Given the description of an element on the screen output the (x, y) to click on. 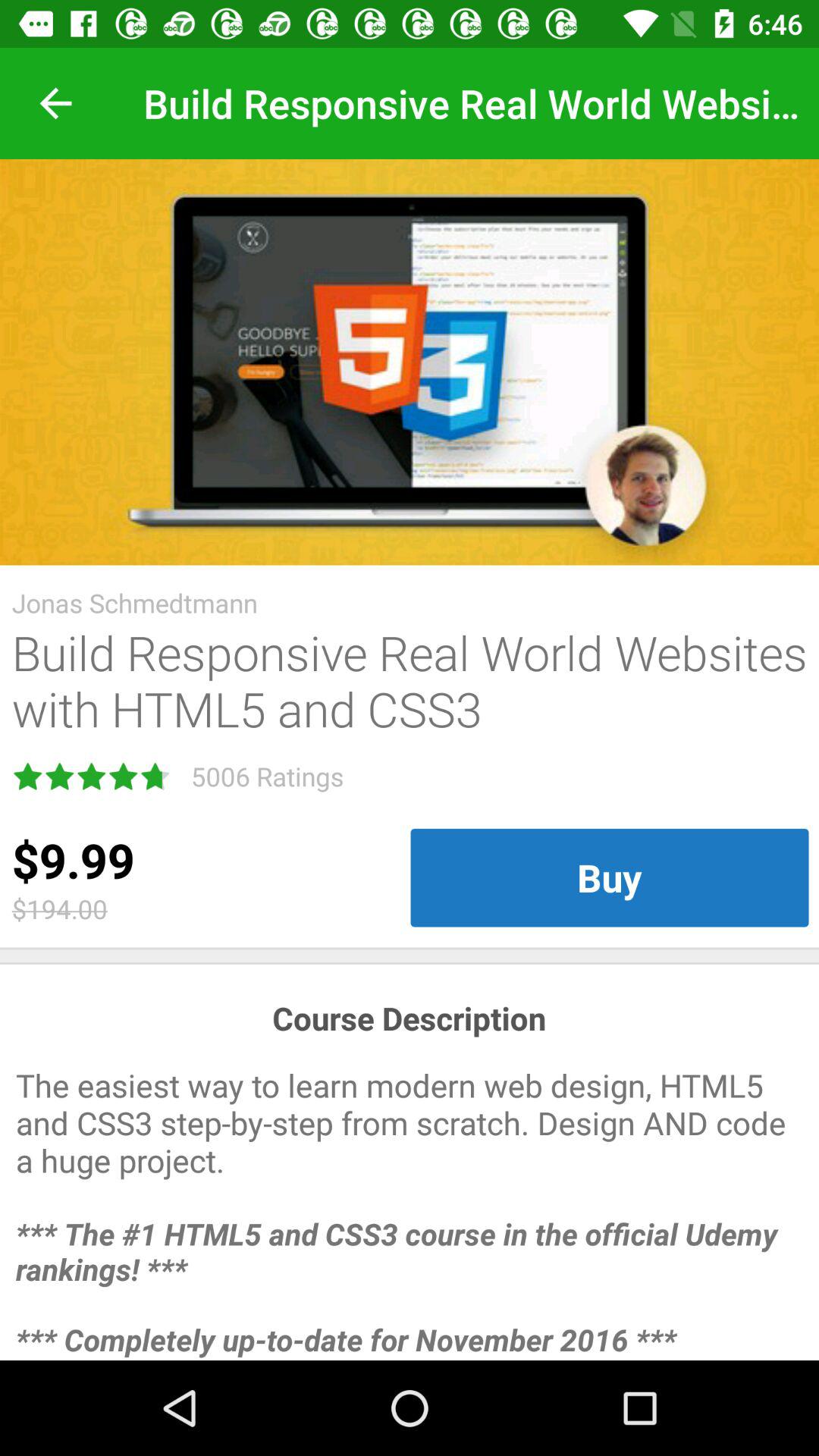
turn off icon above jonas schmedtmann (409, 362)
